Given the description of an element on the screen output the (x, y) to click on. 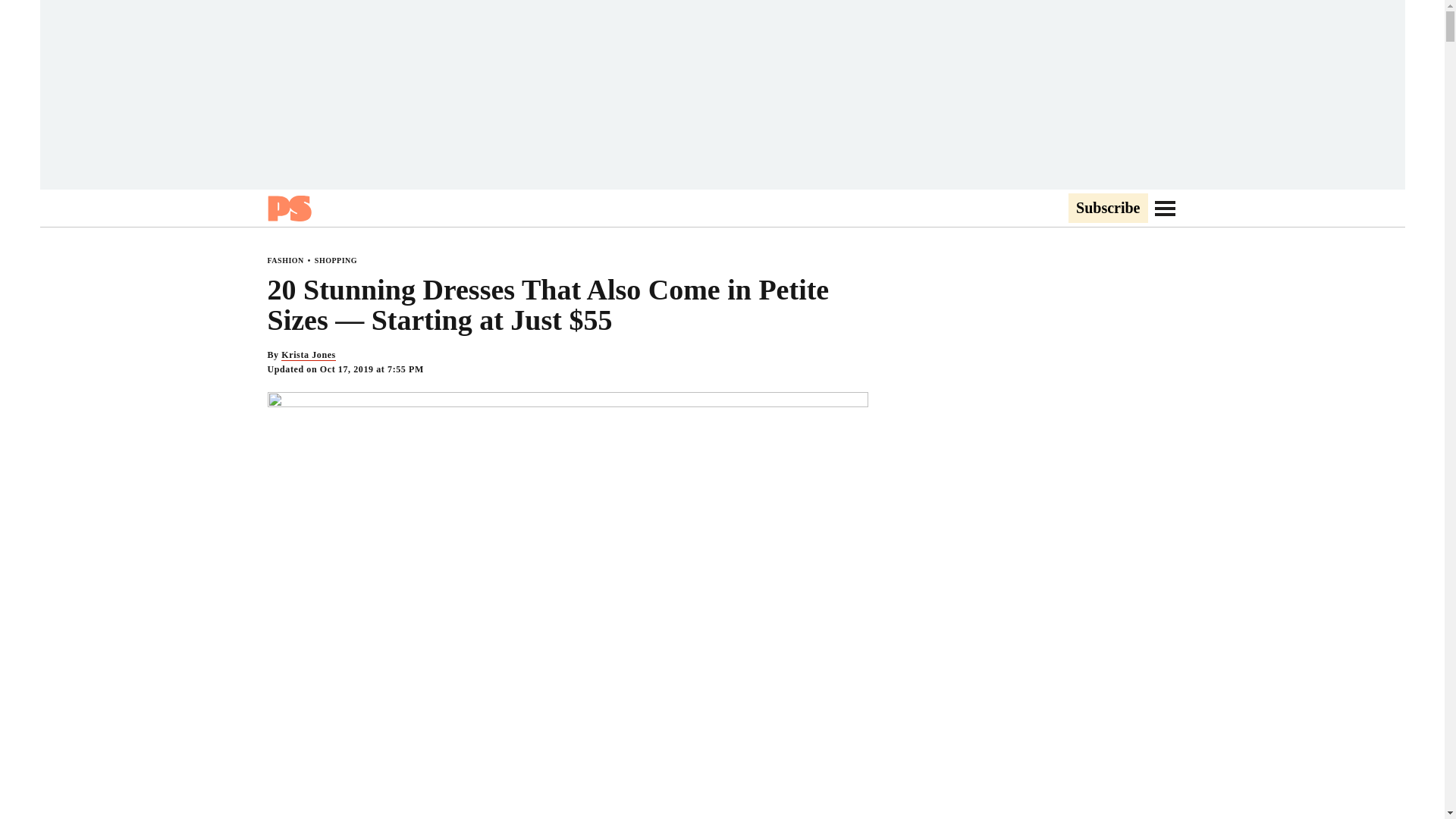
Subscribe (1107, 208)
Go to Navigation (1164, 207)
Popsugar (288, 208)
Go to Navigation (1164, 207)
Krista Jones (308, 355)
FASHION (284, 260)
SHOPPING (335, 260)
